Given the description of an element on the screen output the (x, y) to click on. 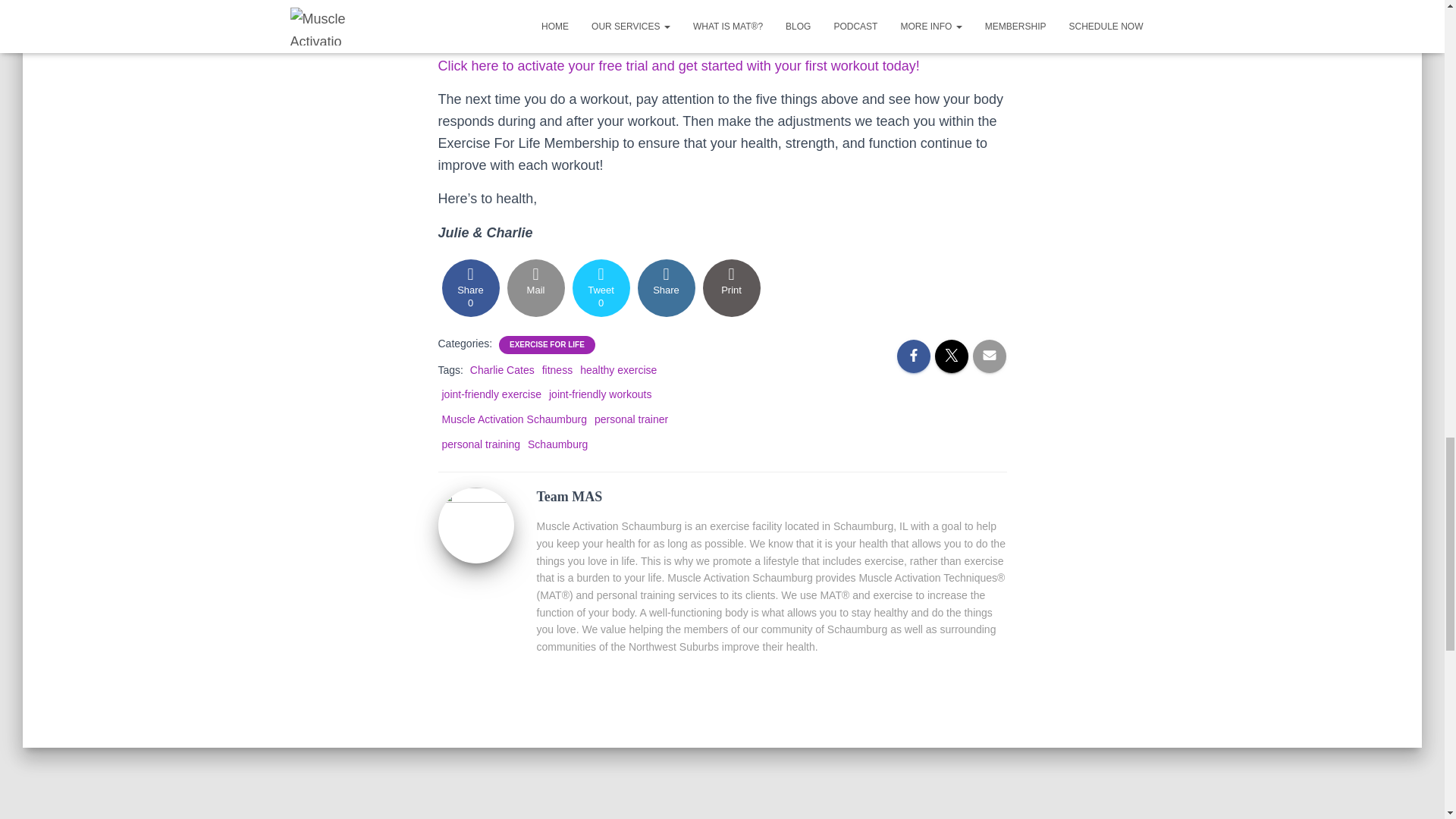
joint-friendly exercise (600, 287)
joint-friendly workouts (491, 394)
Muscle Activation Schaumburg (599, 394)
fitness (513, 419)
Charlie Cates (556, 369)
healthy exercise (502, 369)
Print (617, 369)
Mail (730, 287)
